Given the description of an element on the screen output the (x, y) to click on. 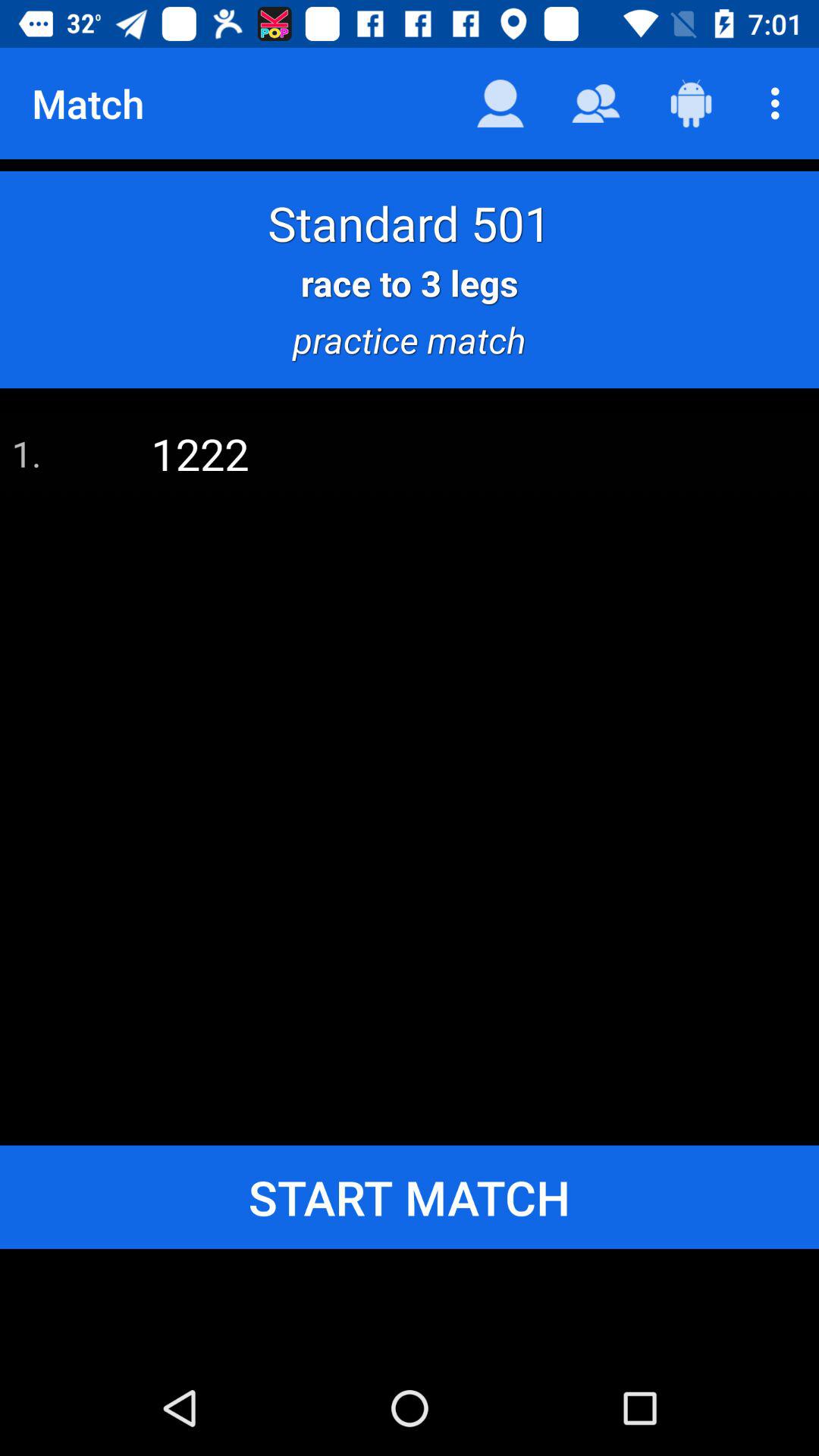
turn off the icon below the 1. (409, 1196)
